Given the description of an element on the screen output the (x, y) to click on. 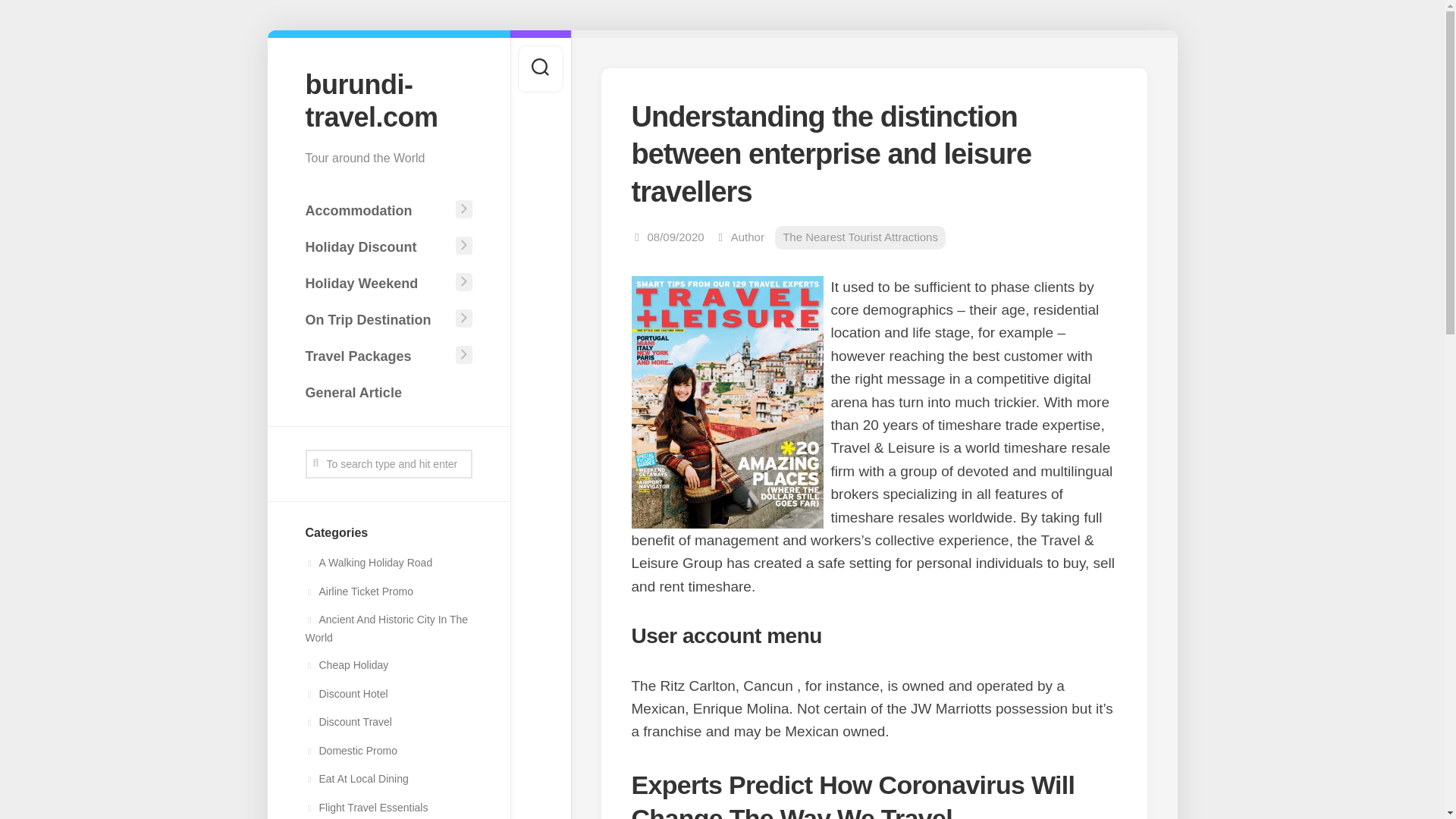
Cheap Holiday (346, 664)
Holiday Discount (376, 246)
Discount Hotel (345, 693)
To search type and hit enter (387, 463)
Discount Travel (347, 721)
On Trip Destination (376, 319)
Travel Packages (376, 356)
Ancient And Historic City In The World (385, 628)
To search type and hit enter (387, 463)
General Article (387, 392)
Holiday Weekend (376, 283)
A Walking Holiday Road (368, 562)
burundi-travel.com (387, 100)
Posts by Author (747, 236)
Airline Ticket Promo (358, 591)
